Given the description of an element on the screen output the (x, y) to click on. 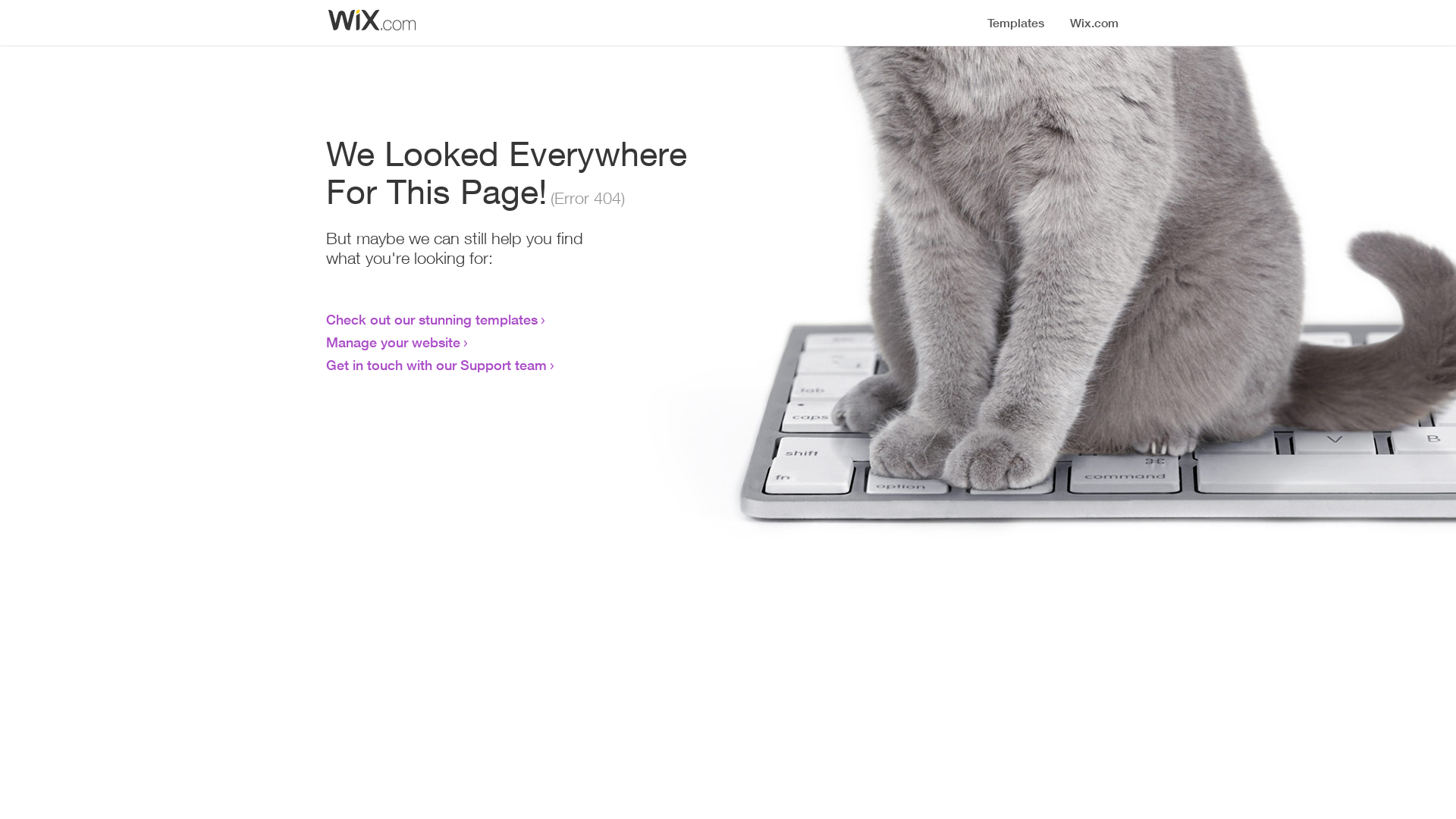
Manage your website Element type: text (393, 341)
Check out our stunning templates Element type: text (431, 318)
Get in touch with our Support team Element type: text (436, 364)
